Given the description of an element on the screen output the (x, y) to click on. 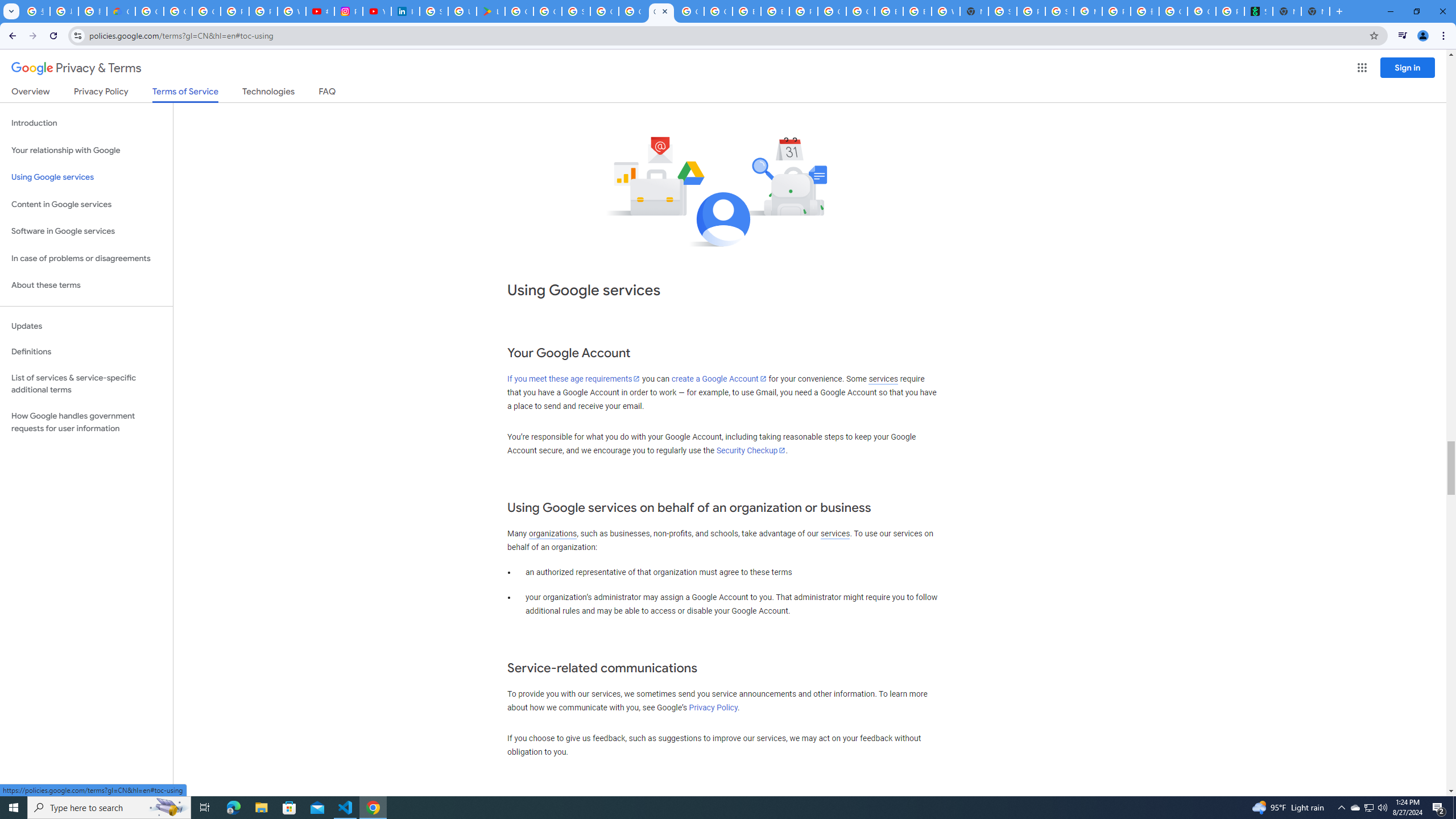
Software in Google services (86, 230)
Browse Chrome as a guest - Computer - Google Chrome Help (917, 11)
Introduction (86, 122)
New Tab (973, 11)
Google Workspace - Specific Terms (547, 11)
